Given the description of an element on the screen output the (x, y) to click on. 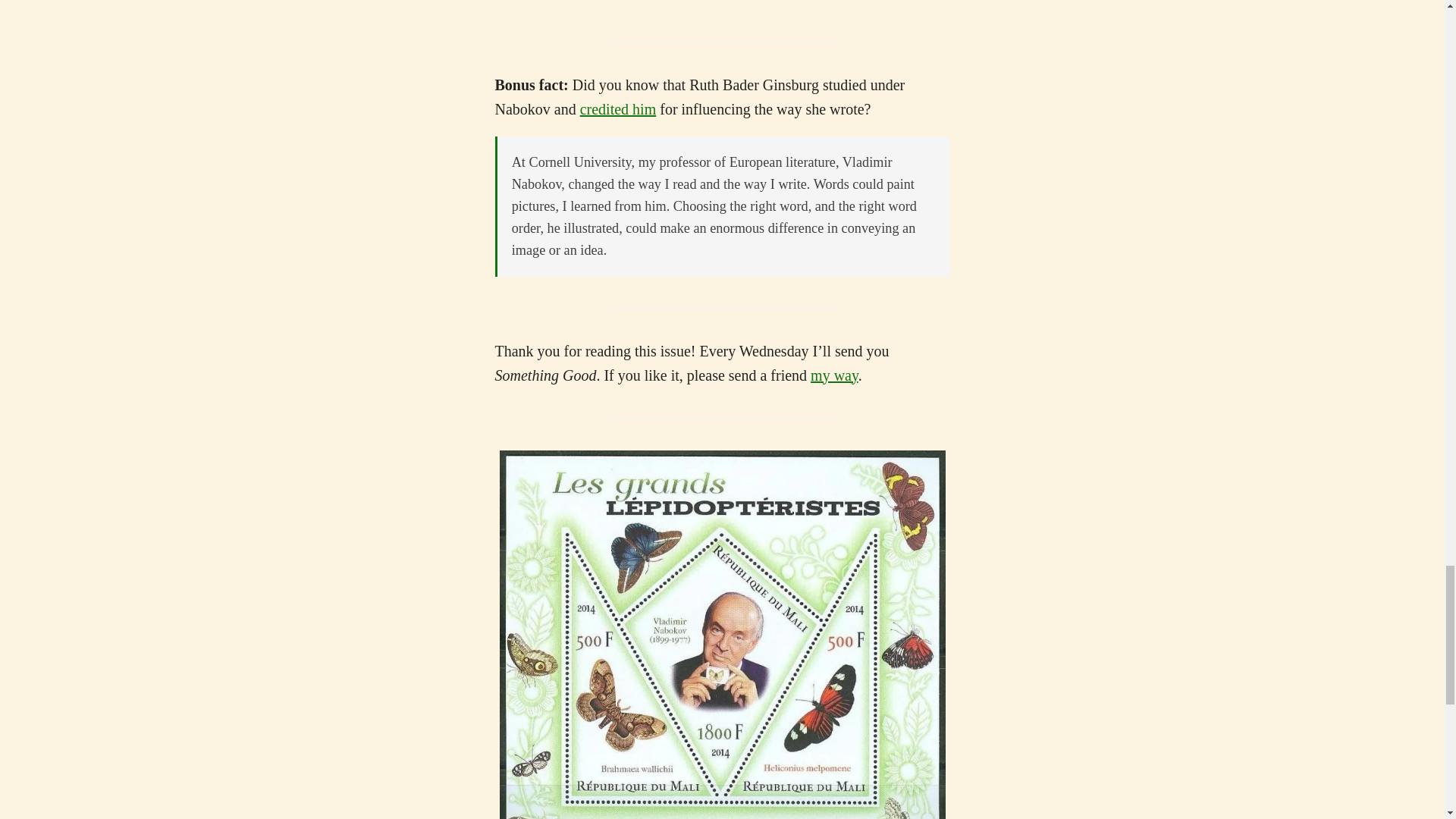
my way (834, 375)
credited him (617, 108)
